Given the description of an element on the screen output the (x, y) to click on. 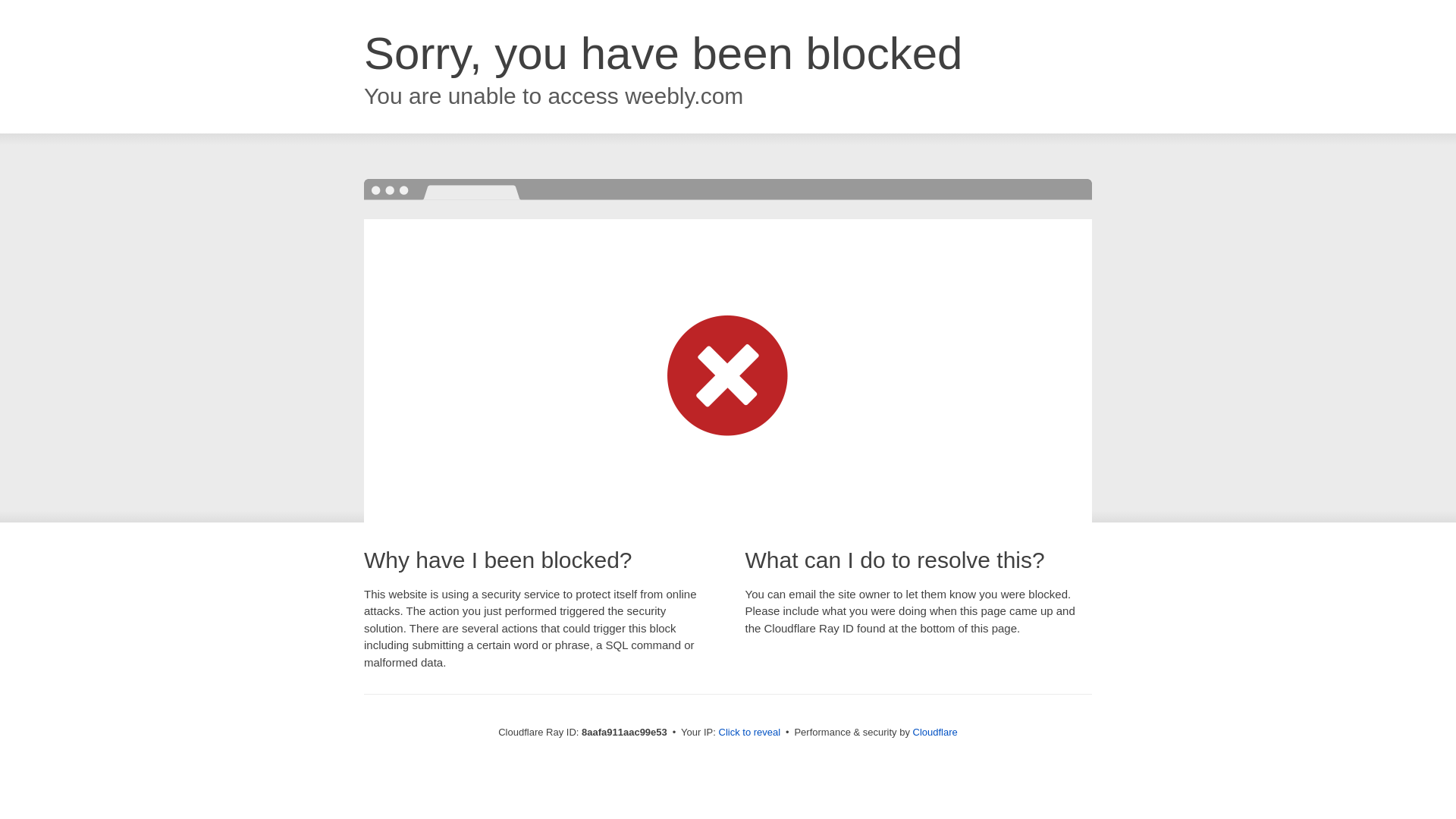
Cloudflare (935, 731)
Click to reveal (749, 732)
